Given the description of an element on the screen output the (x, y) to click on. 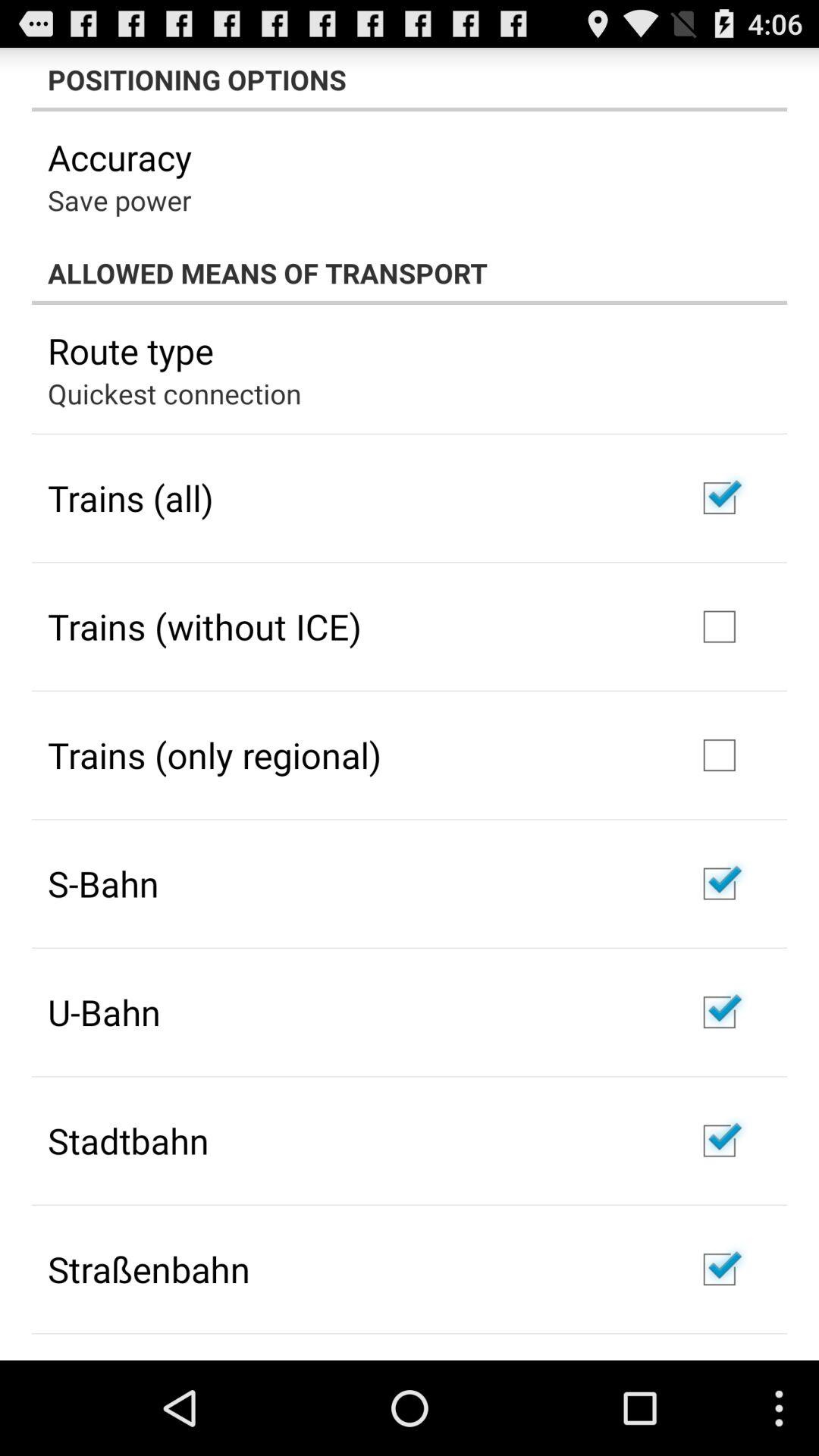
flip until trains (only regional) icon (214, 754)
